Given the description of an element on the screen output the (x, y) to click on. 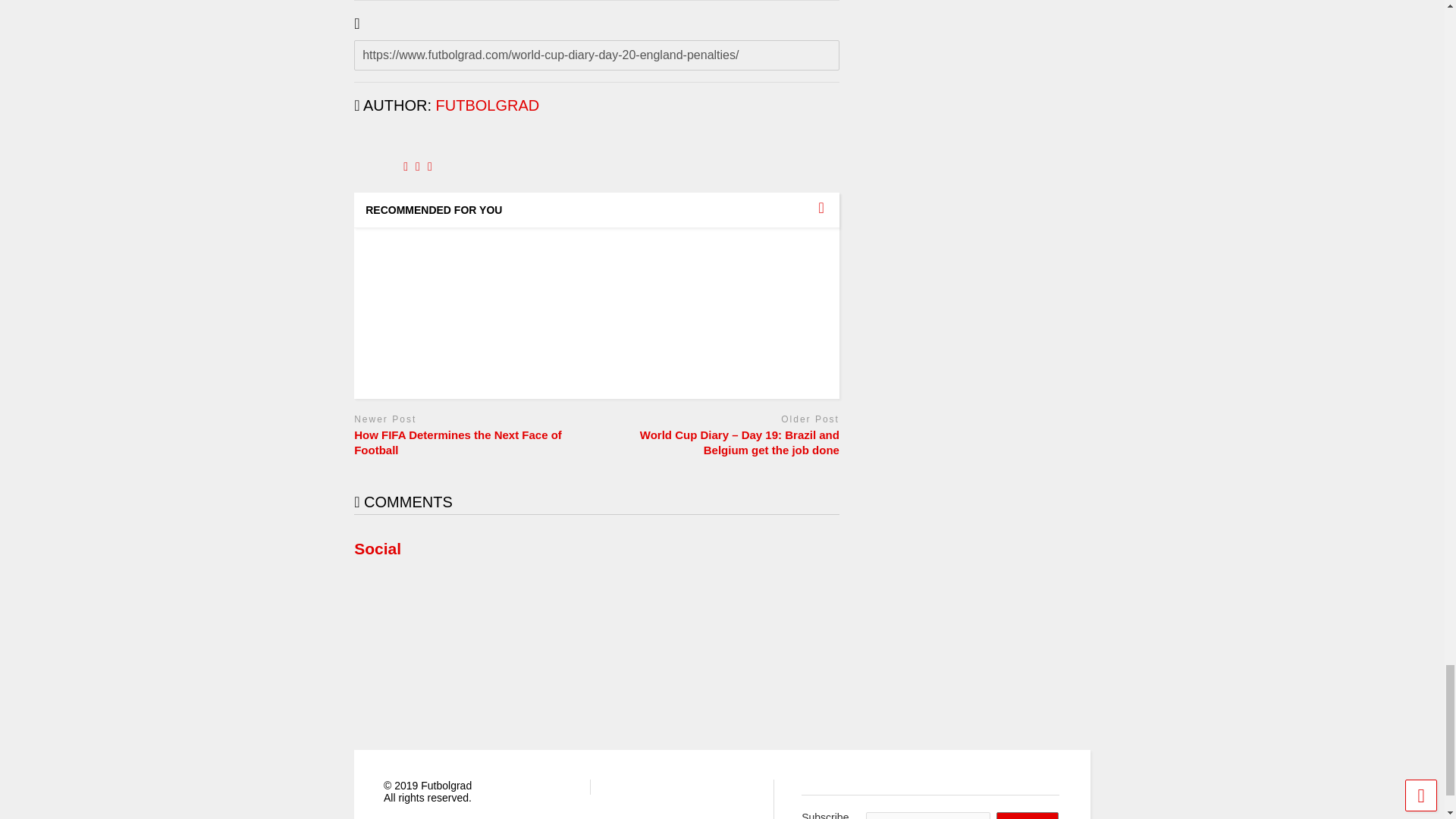
Submit (1026, 815)
